Given the description of an element on the screen output the (x, y) to click on. 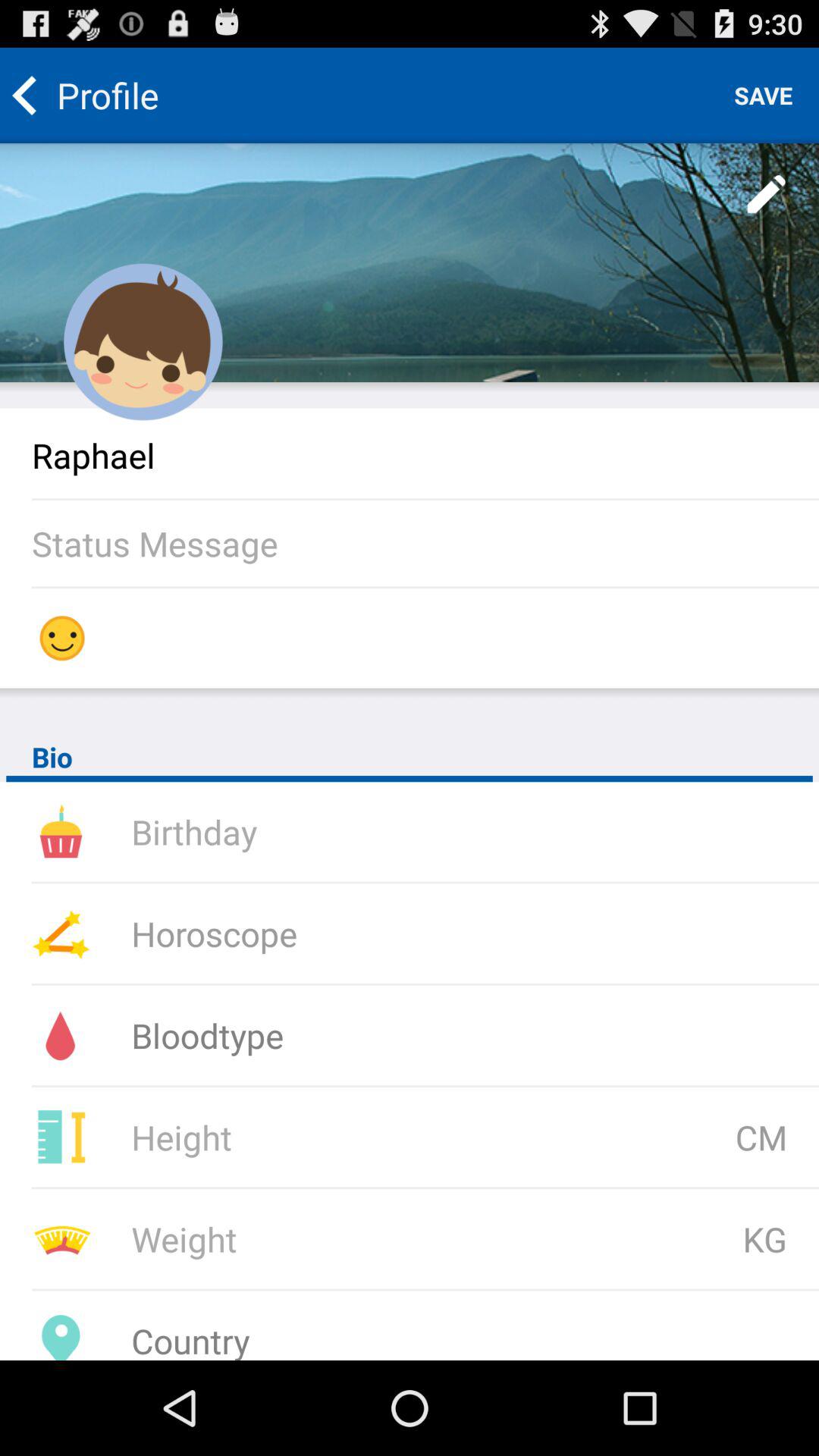
edit profile picture and background (409, 262)
